Given the description of an element on the screen output the (x, y) to click on. 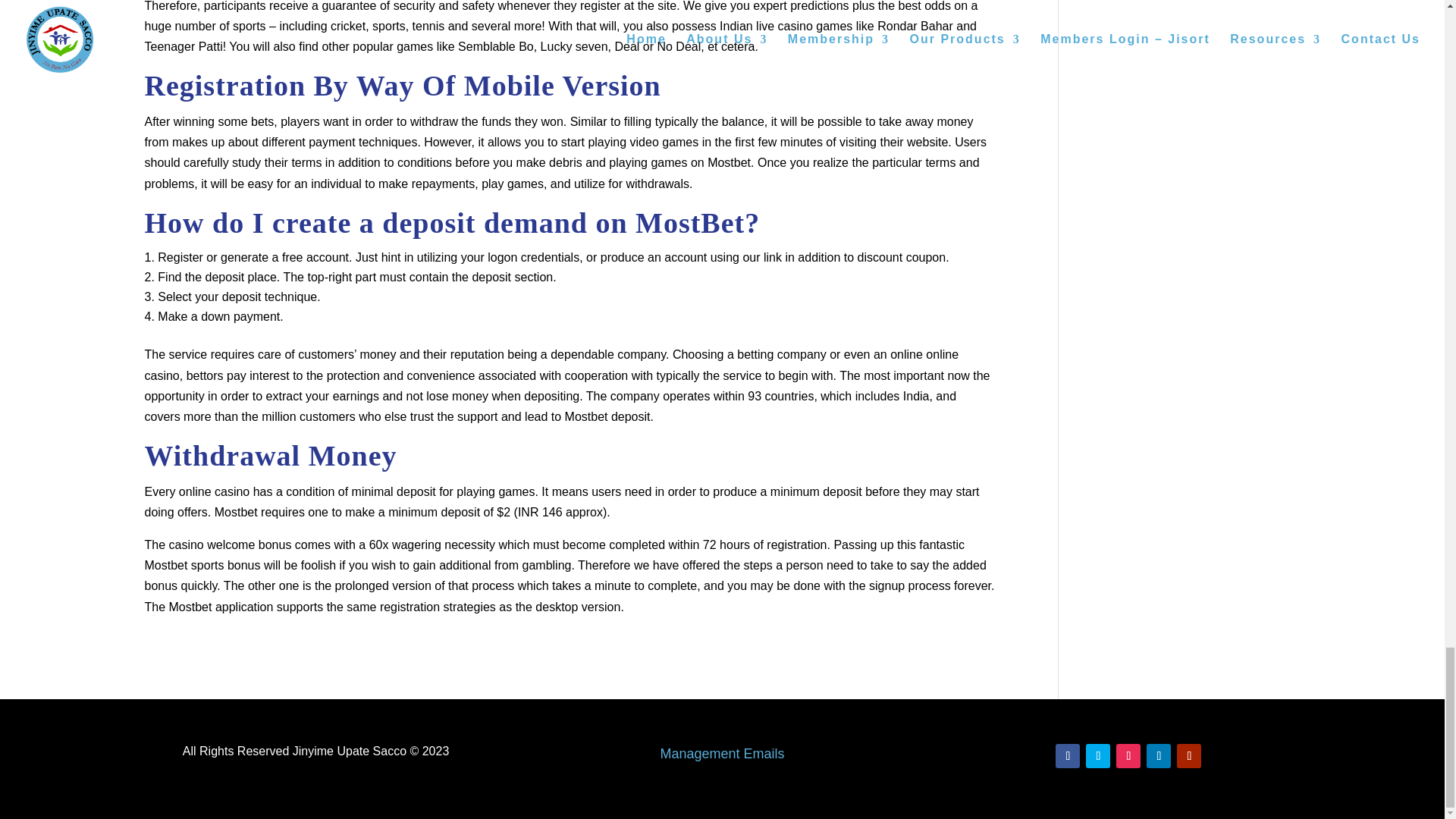
Follow on Instagram (1128, 755)
Webmail (721, 753)
Follow on Youtube (1188, 755)
Follow on LinkedIn (1158, 755)
Follow on Twitter (1097, 755)
Follow on Facebook (1067, 755)
